Given the description of an element on the screen output the (x, y) to click on. 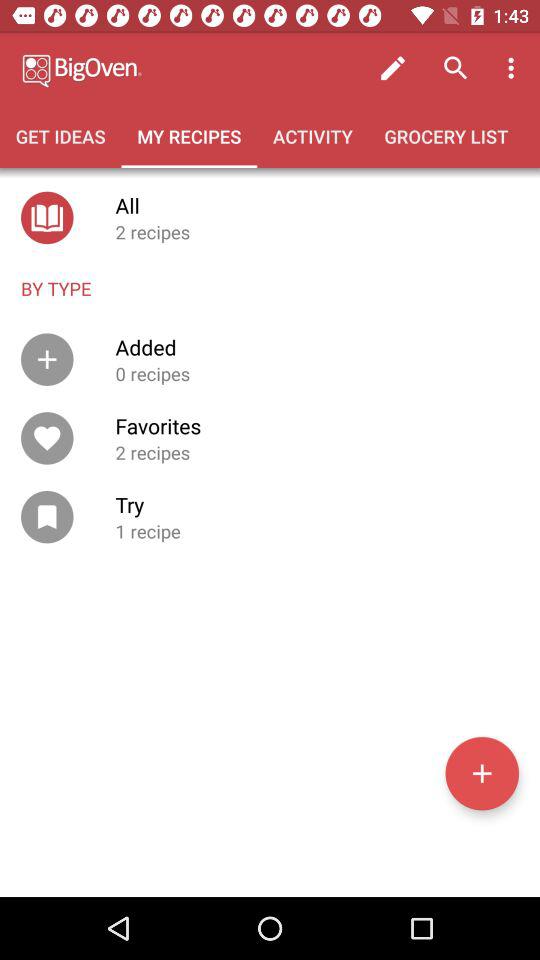
launch the icon above the grocery list (513, 67)
